Given the description of an element on the screen output the (x, y) to click on. 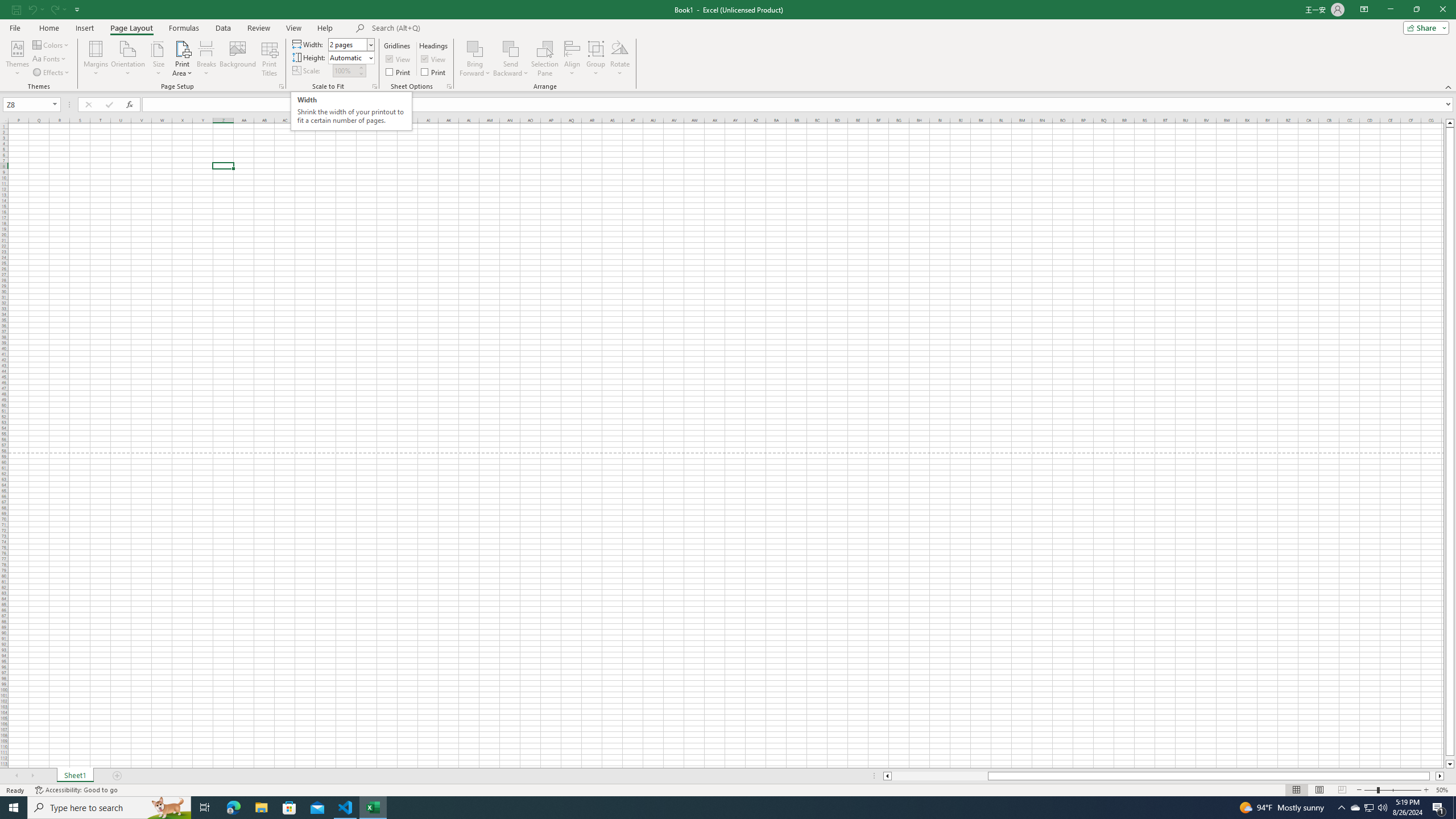
Zoom Out (1370, 790)
Help (325, 28)
System (6, 6)
Width (350, 44)
Height (347, 57)
Page Layout (131, 28)
Undo (31, 9)
Less (360, 73)
Bring Forward (475, 58)
Send Backward (510, 58)
Breaks (206, 58)
Size (158, 58)
Review (258, 28)
Orientation (128, 58)
Bring Forward (475, 48)
